Given the description of an element on the screen output the (x, y) to click on. 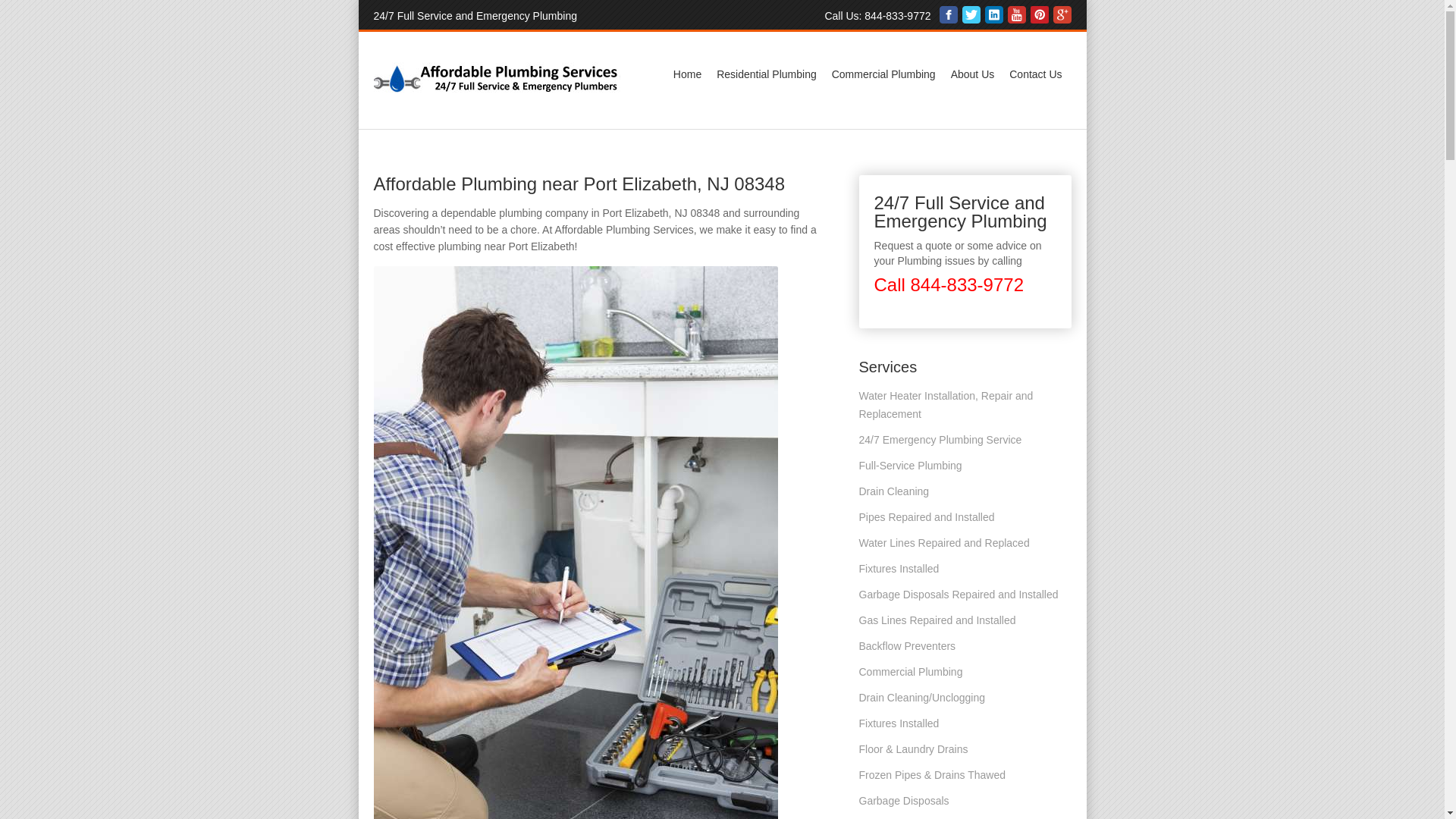
Commercial Plumbing (883, 74)
About Us (972, 74)
Residential Plumbing (766, 74)
844-833-9772 (897, 15)
Home (686, 74)
Contact Us (1035, 74)
